Given the description of an element on the screen output the (x, y) to click on. 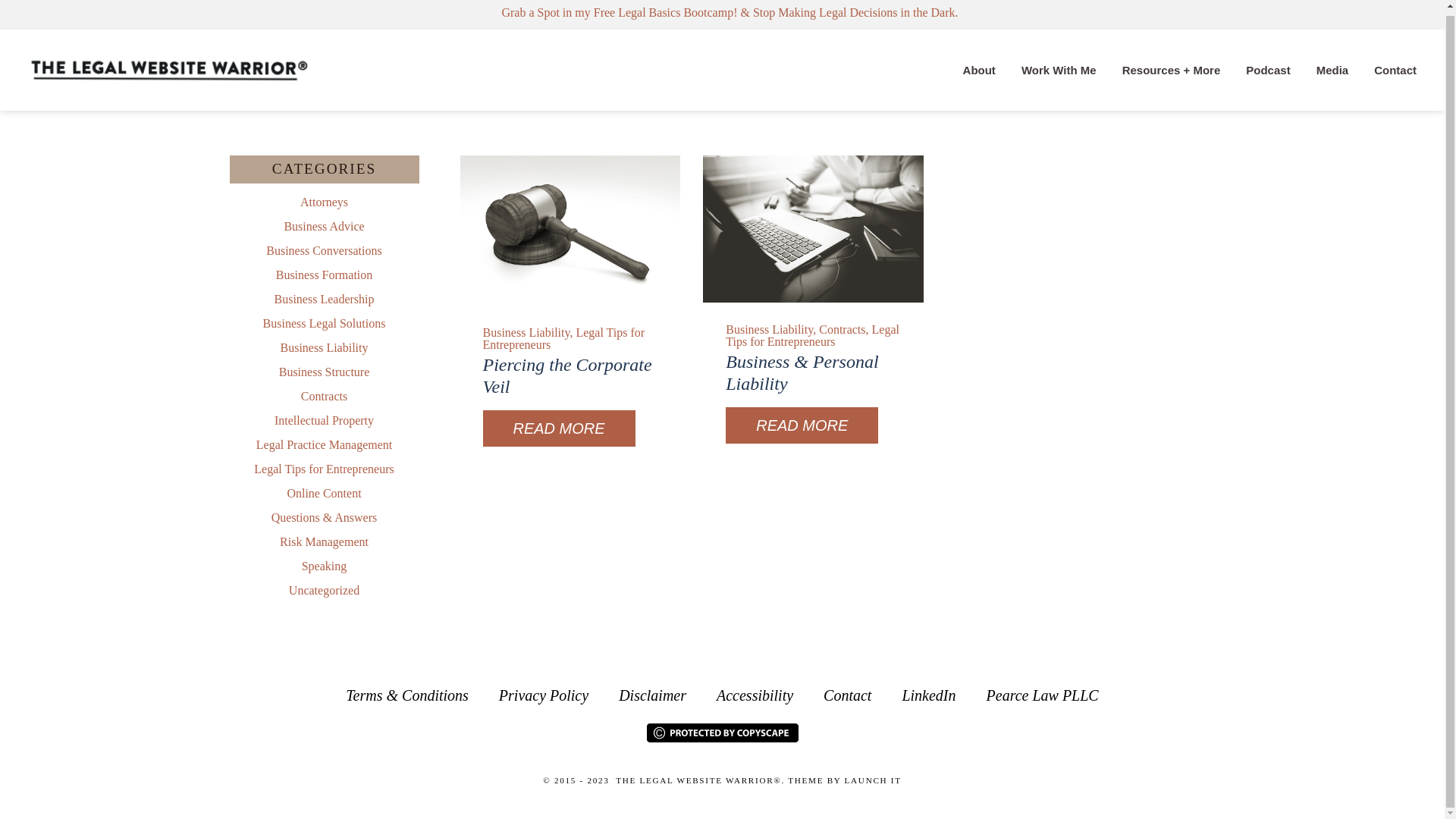
Work With Me (1059, 69)
About (979, 69)
Podcast (1267, 69)
Protected by Copyscape - Do not copy content from this page. (721, 732)
Contact (1395, 69)
Media (1332, 69)
